Given the description of an element on the screen output the (x, y) to click on. 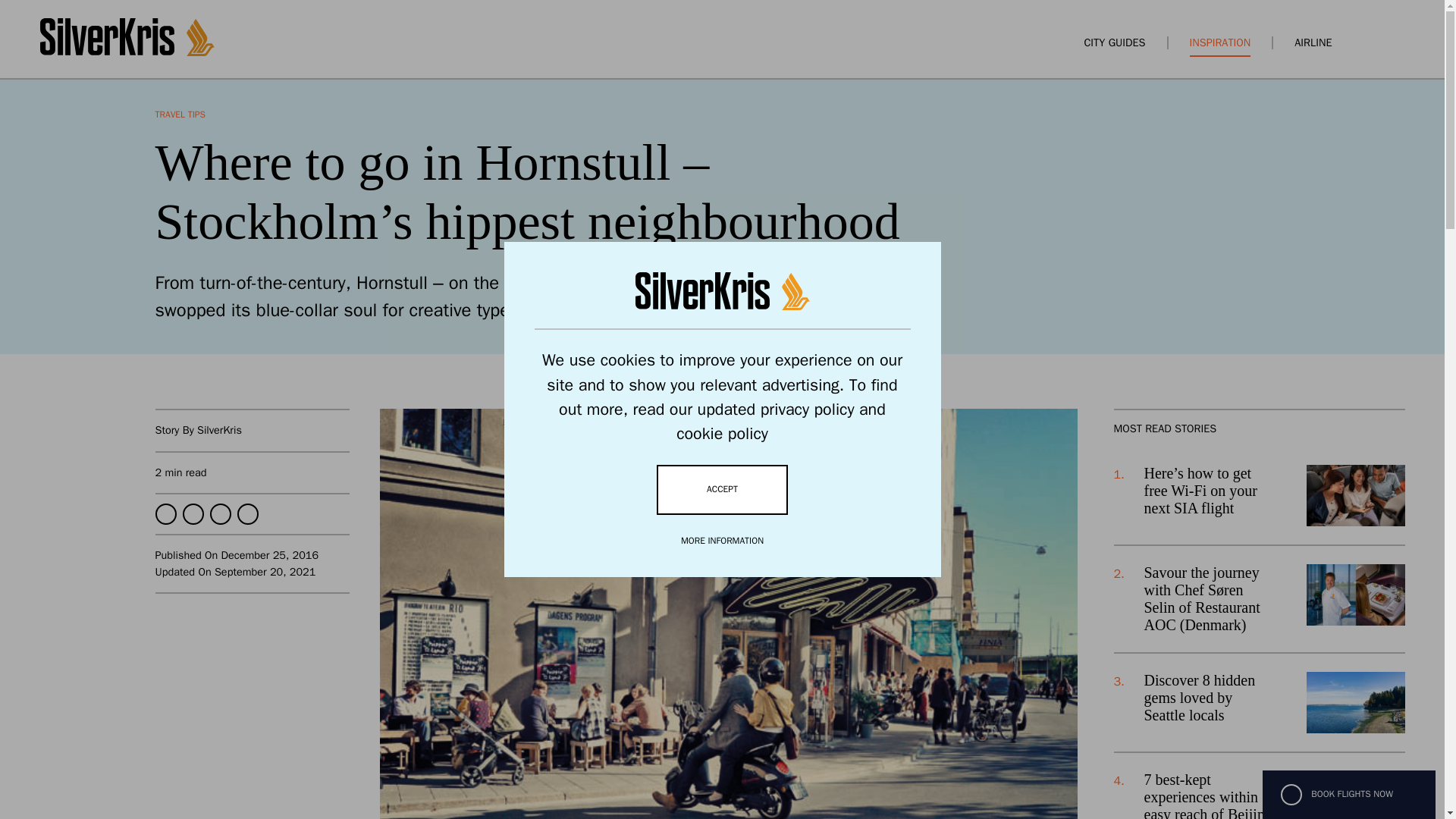
Open Search (1369, 43)
TRAVEL TIPS (179, 114)
Facebook (165, 513)
CITY GUIDES (1113, 42)
Twitter (192, 513)
SilverKris (218, 429)
INSPIRATION (1219, 42)
WhatsApp (219, 513)
Pinterest (246, 513)
